Given the description of an element on the screen output the (x, y) to click on. 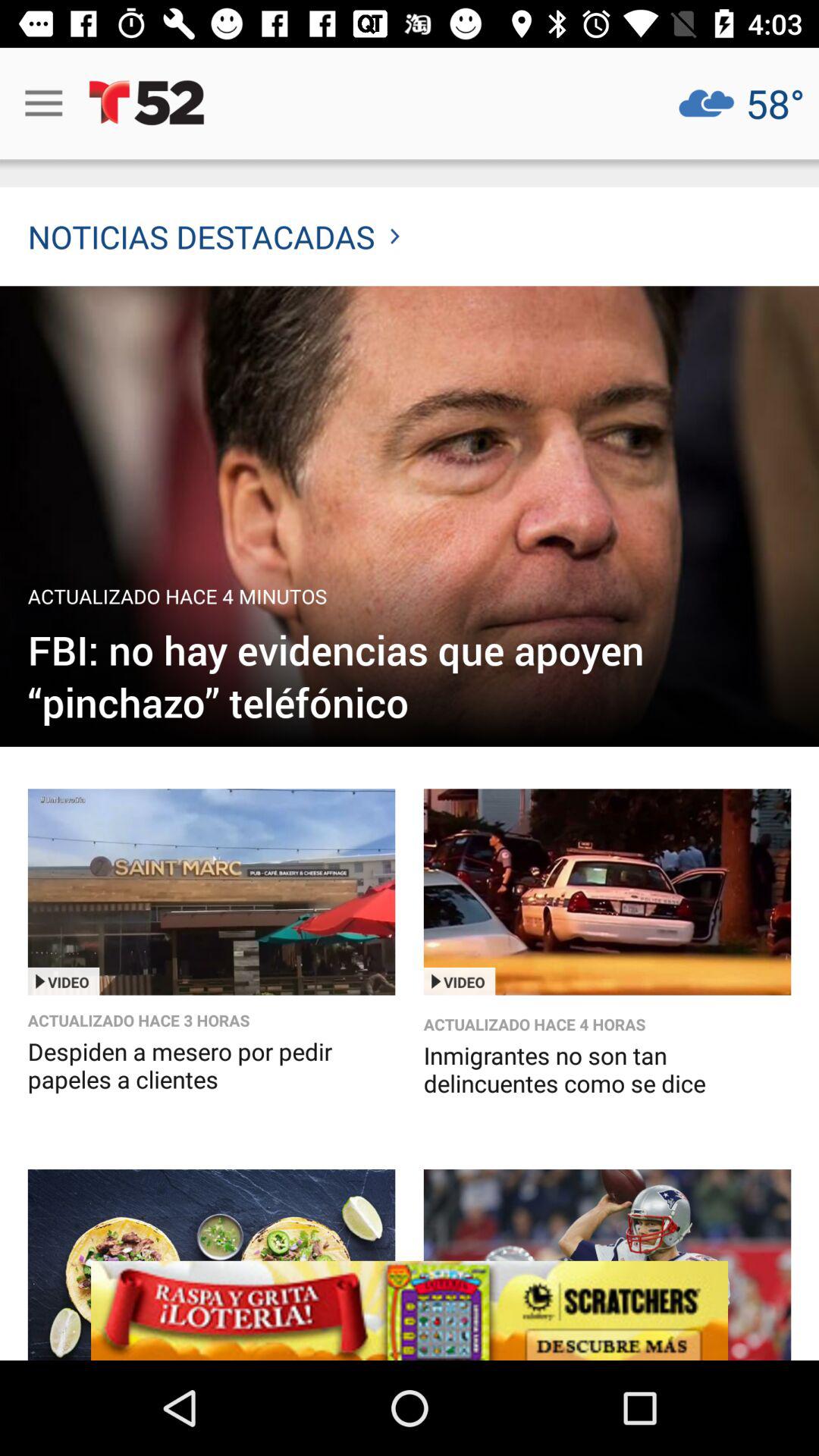
turn off noticias destacadas (213, 236)
